Given the description of an element on the screen output the (x, y) to click on. 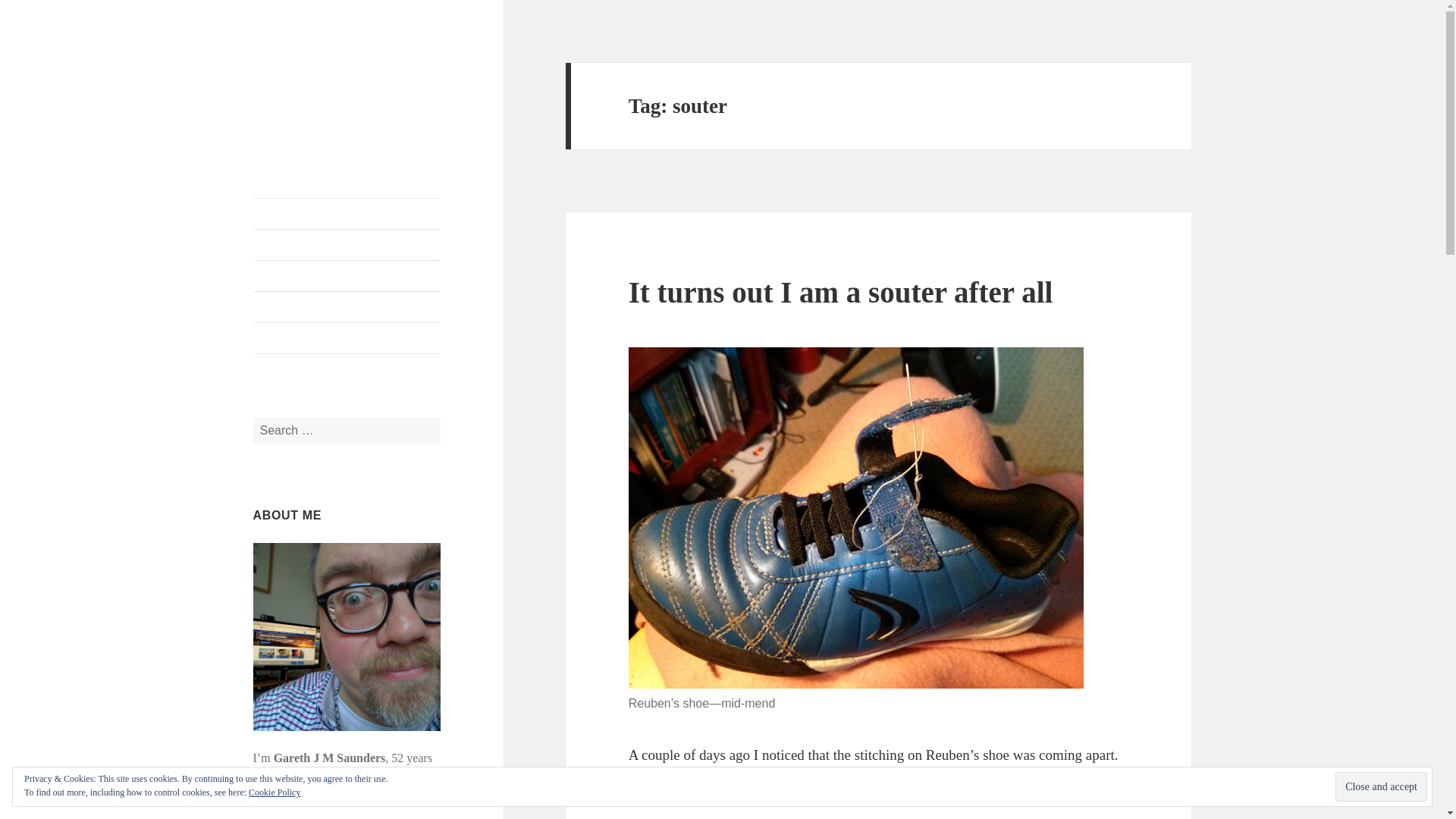
A wee bit about me. (347, 245)
Web design (347, 306)
Close and accept (1380, 786)
View from the Potting Shed (320, 86)
About (347, 245)
Contact (347, 337)
Home (347, 214)
